Given the description of an element on the screen output the (x, y) to click on. 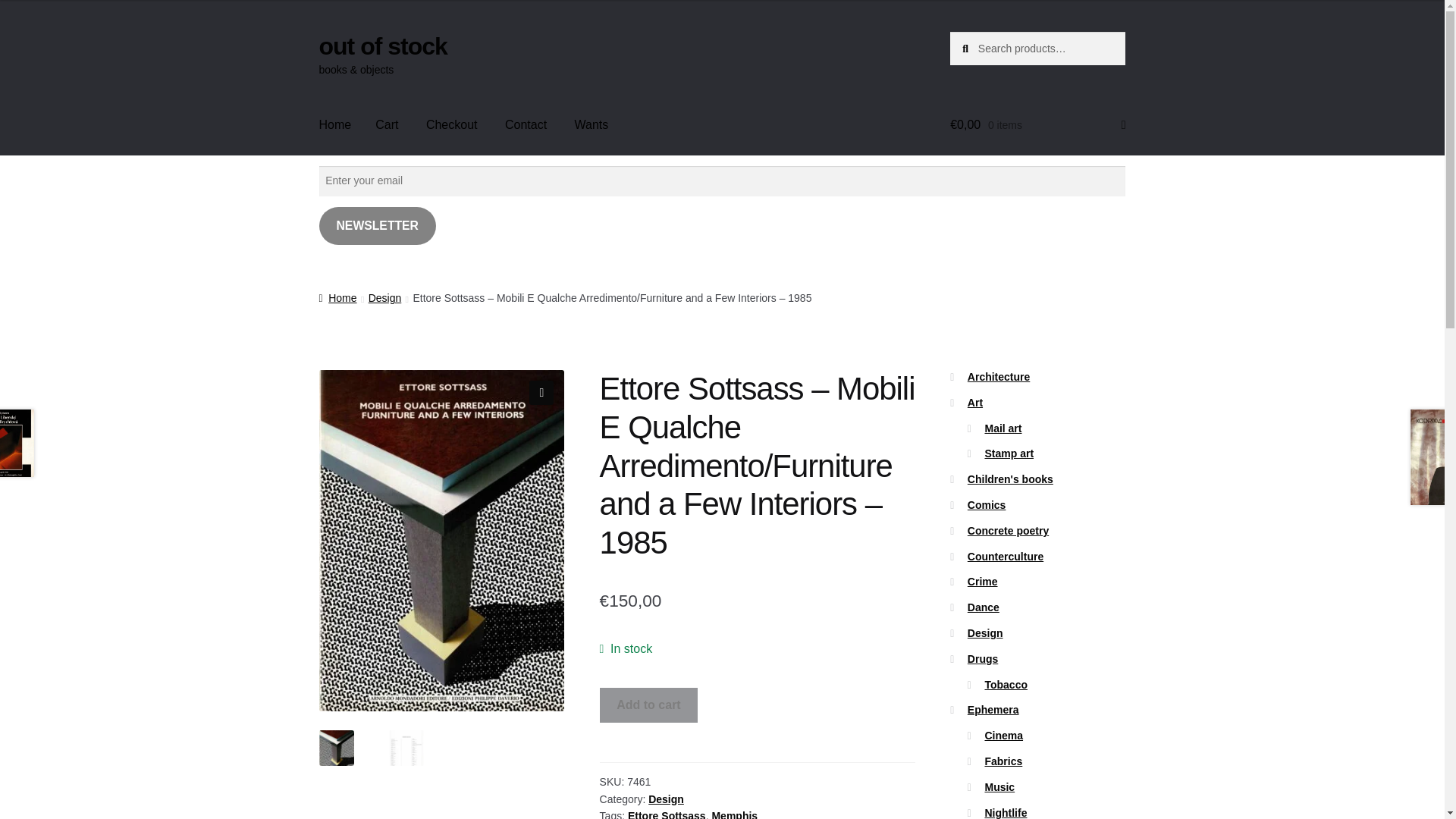
Add to cart (648, 704)
Checkout (451, 124)
Design (665, 799)
NEWSLETTER (376, 225)
Art (975, 402)
out of stock (382, 45)
View your shopping cart (1037, 124)
Home (335, 124)
